Given the description of an element on the screen output the (x, y) to click on. 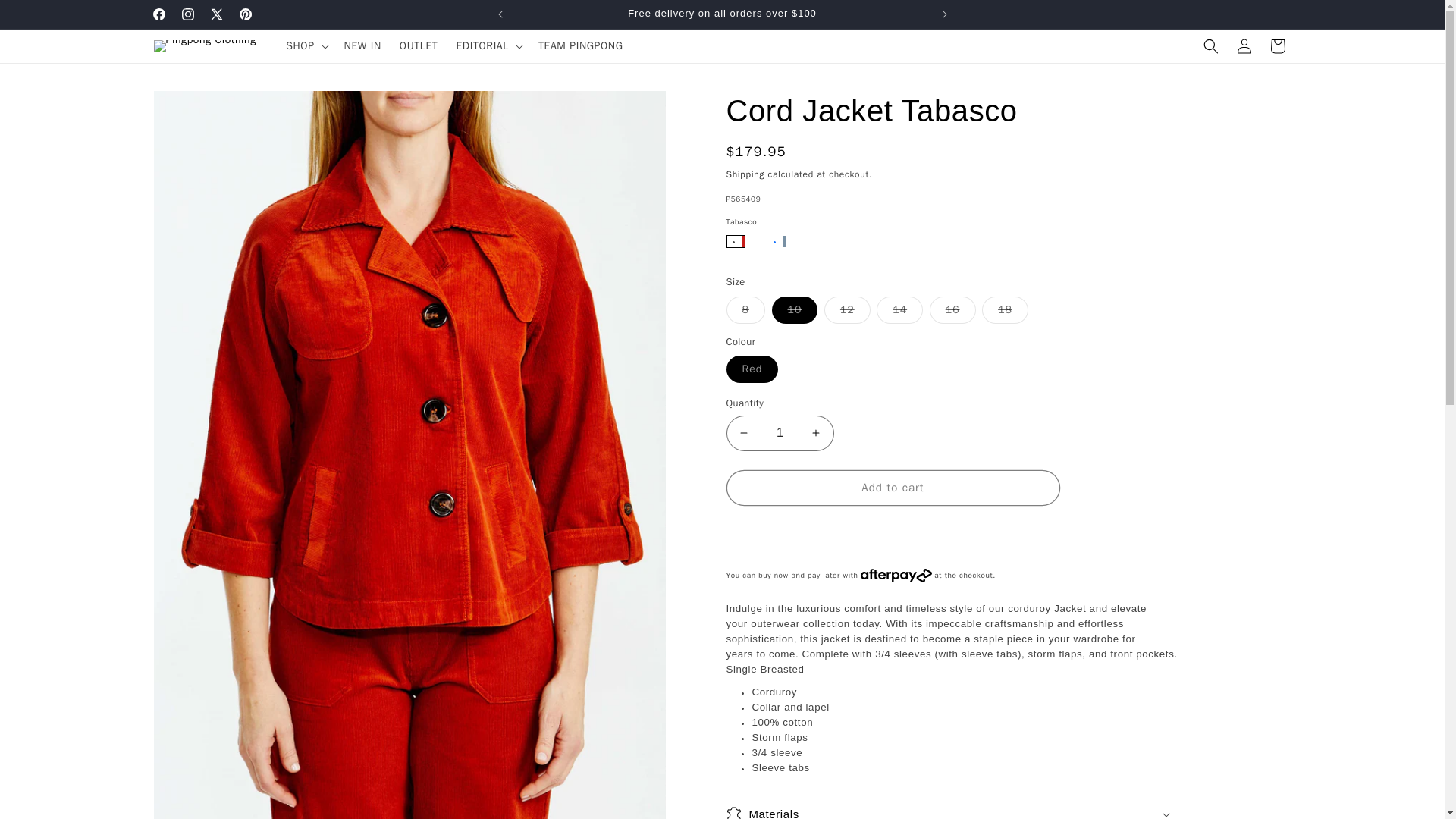
Skip to content (45, 17)
Pinterest (244, 14)
1 (780, 433)
Denim (777, 241)
Facebook (158, 14)
Instagram (187, 14)
Afterpay (895, 574)
